Given the description of an element on the screen output the (x, y) to click on. 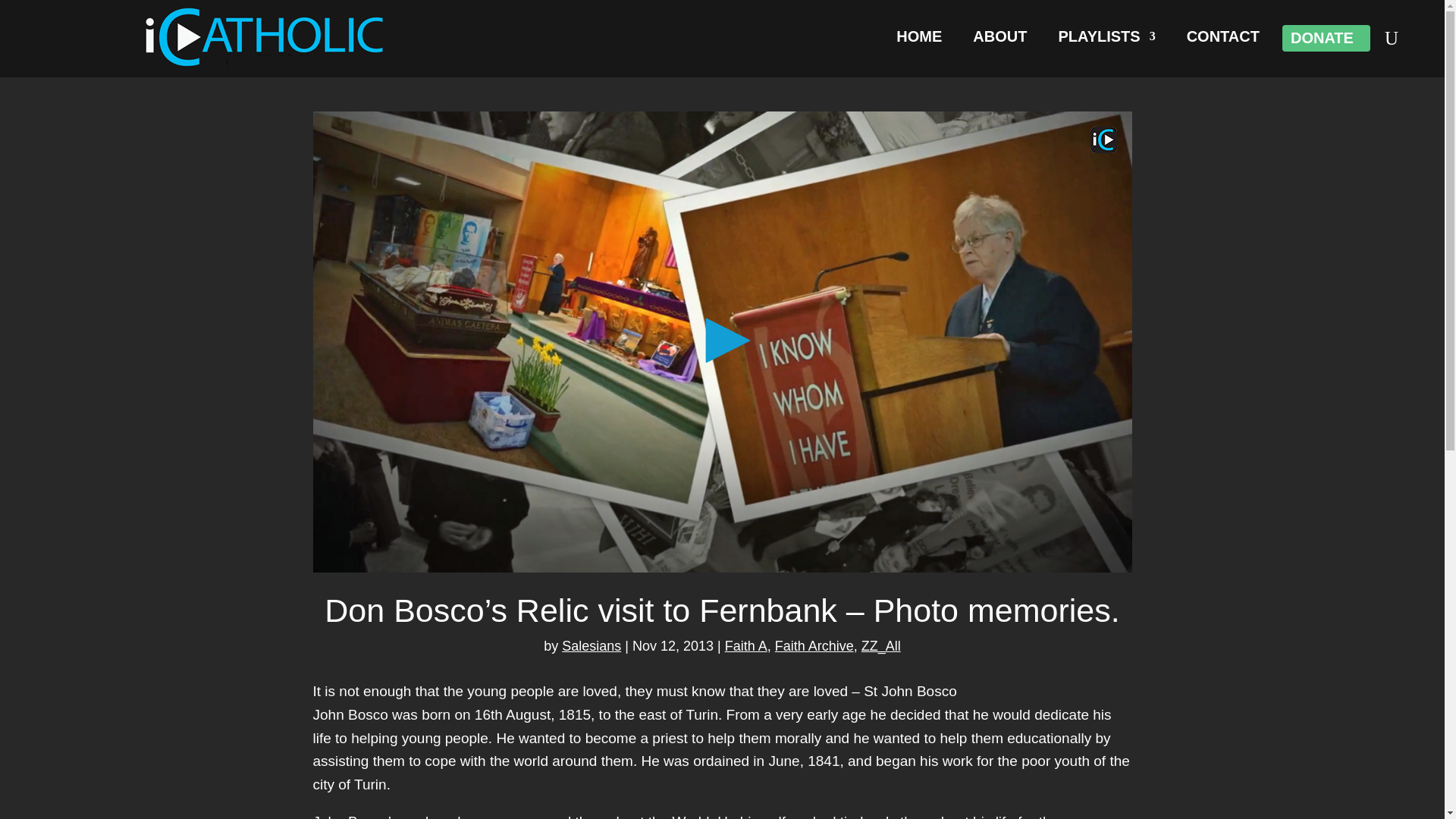
ABOUT (999, 39)
HOME (919, 39)
Posts by Salesians (591, 645)
CONTACT (1222, 39)
PLAYLISTS (1106, 39)
DONATE (1322, 40)
iCatholic-logo-2021 (265, 36)
